Given the description of an element on the screen output the (x, y) to click on. 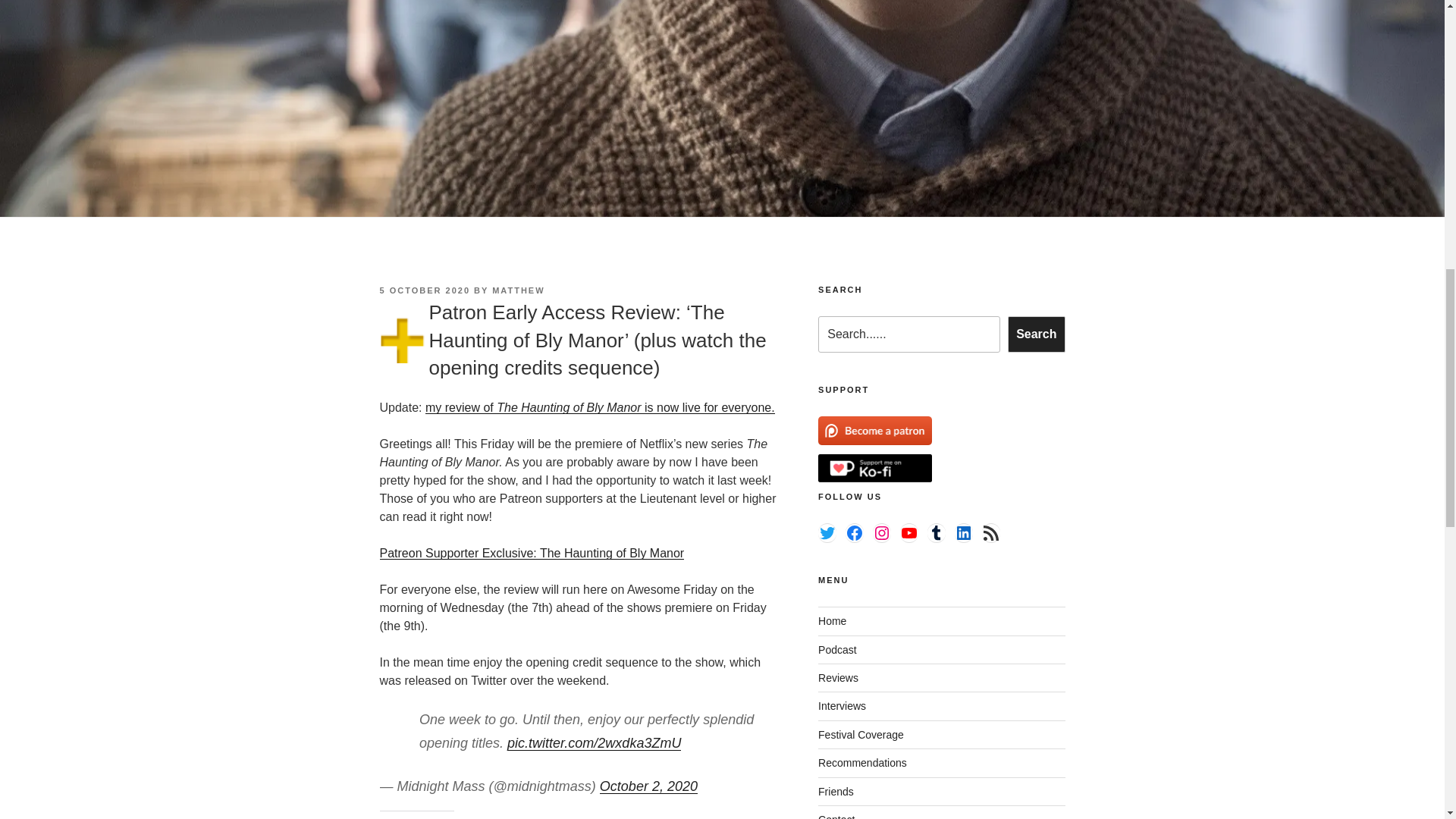
Tumblr (935, 533)
5 OCTOBER 2020 (424, 289)
MATTHEW (518, 289)
Facebook (854, 533)
Twitter (826, 533)
October 2, 2020 (648, 785)
Instagram (881, 533)
Patreon Supporter Exclusive: The Haunting of Bly Manor (531, 553)
LinkedIn (963, 533)
Search (1035, 334)
YouTube (908, 533)
